Given the description of an element on the screen output the (x, y) to click on. 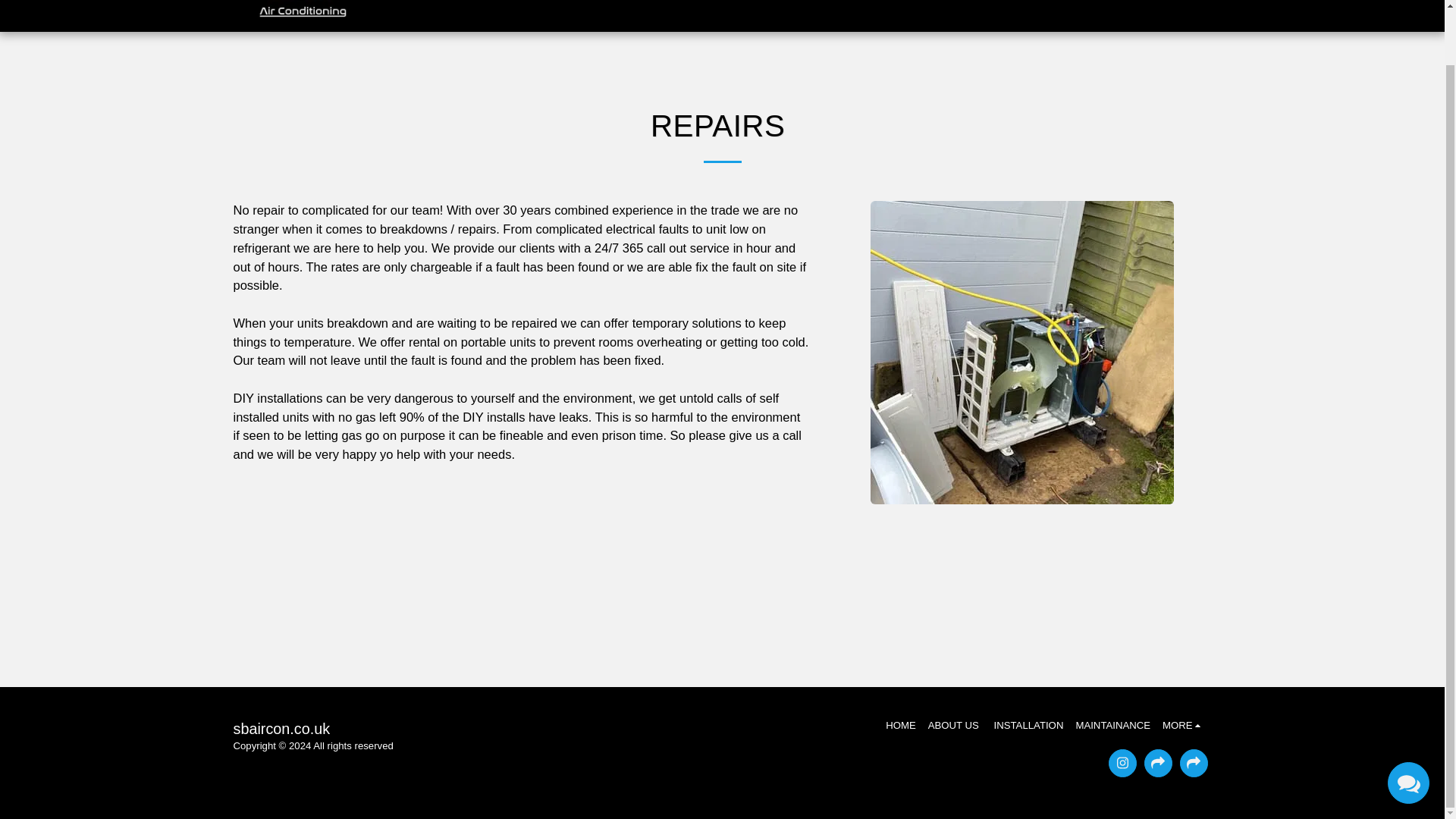
INSTALLATION (1029, 725)
ABOUT US  (954, 725)
HOME (900, 725)
MAINTAINANCE (1112, 725)
MORE   (1183, 725)
